Given the description of an element on the screen output the (x, y) to click on. 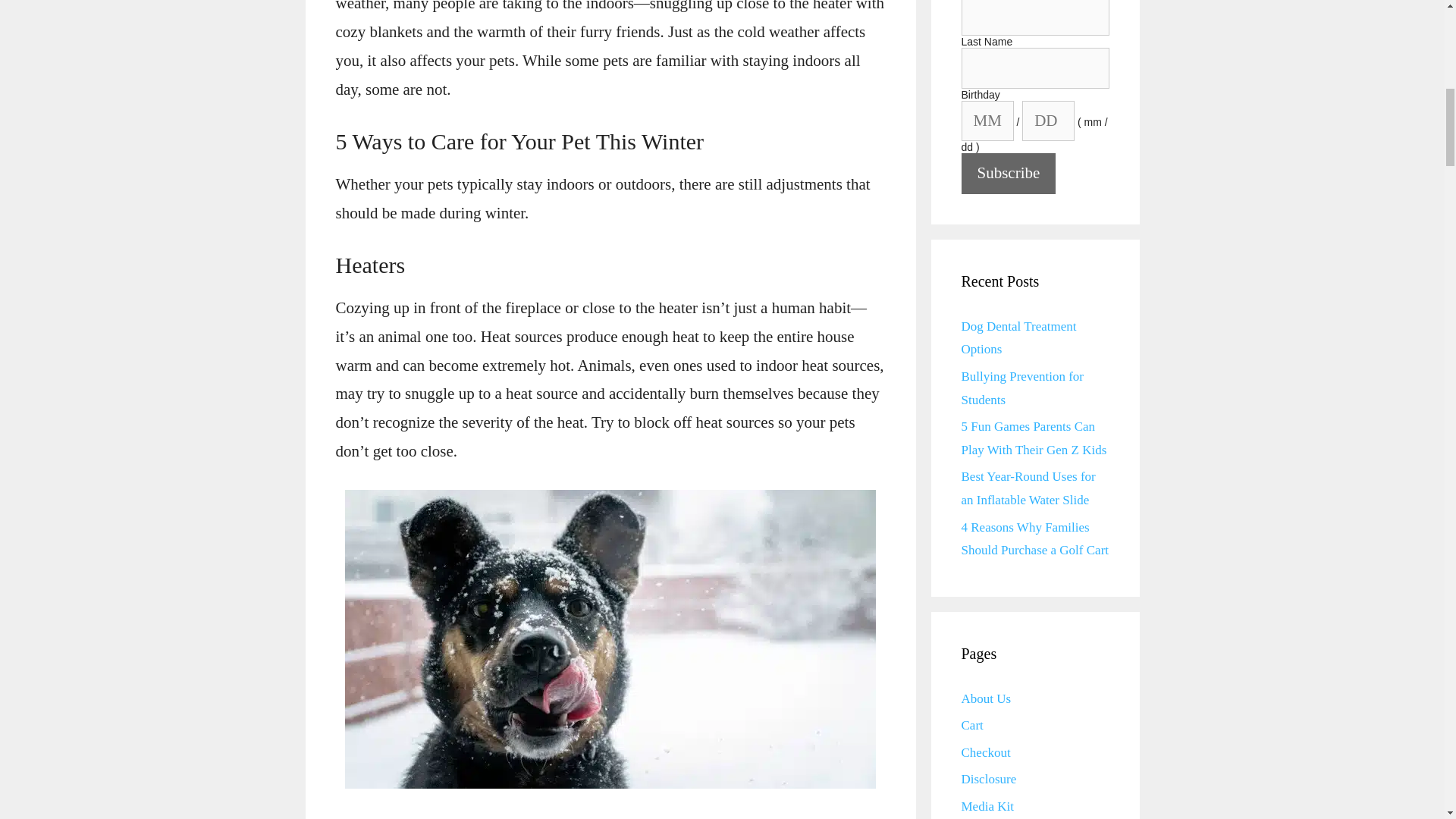
Kameron Kincade (454, 818)
Unsplash (566, 818)
Subscribe (1008, 173)
